Given the description of an element on the screen output the (x, y) to click on. 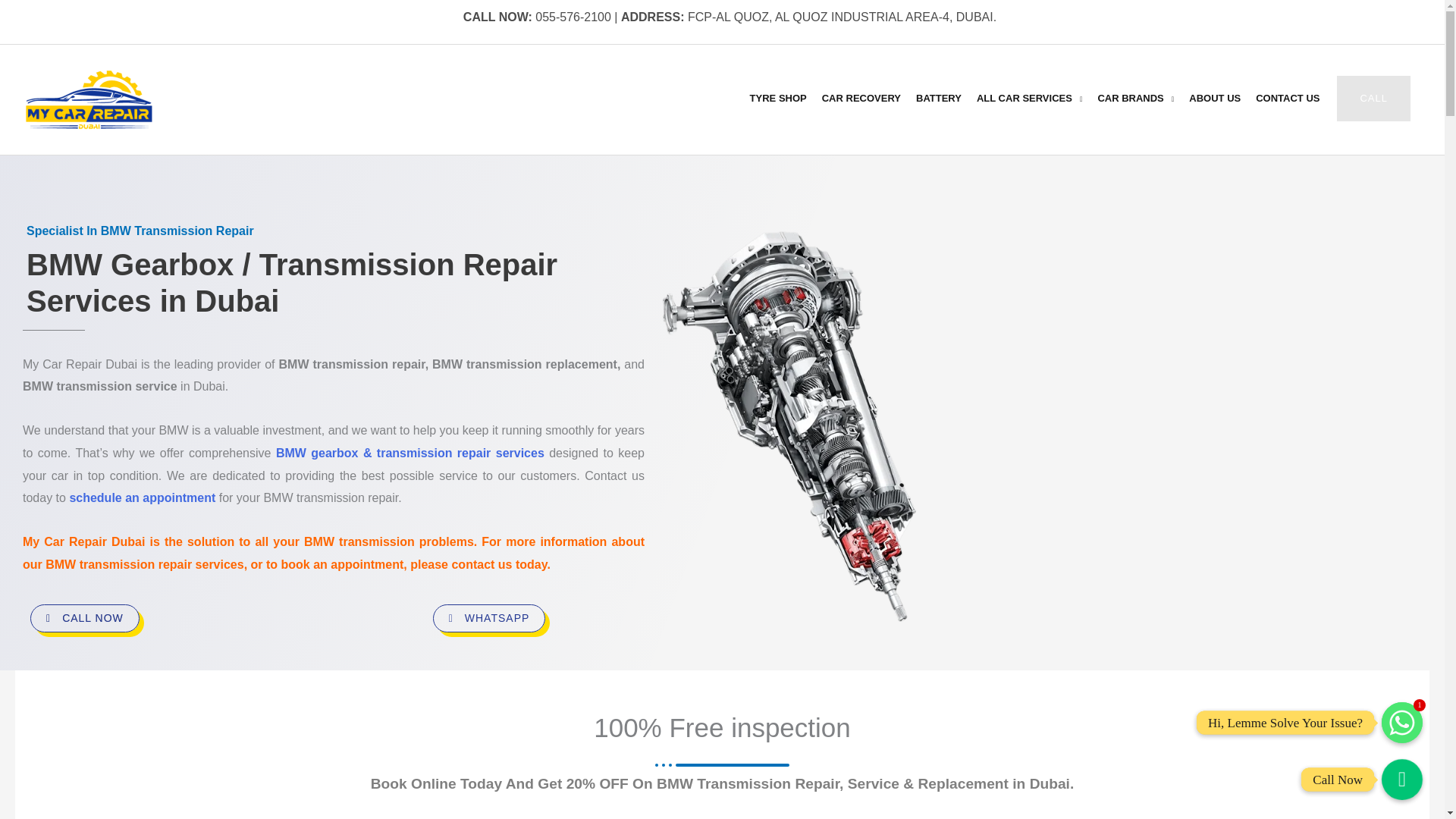
TYRE SHOP (777, 97)
CAR RECOVERY (860, 97)
ALL CAR SERVICES (1029, 97)
BATTERY (938, 97)
